Given the description of an element on the screen output the (x, y) to click on. 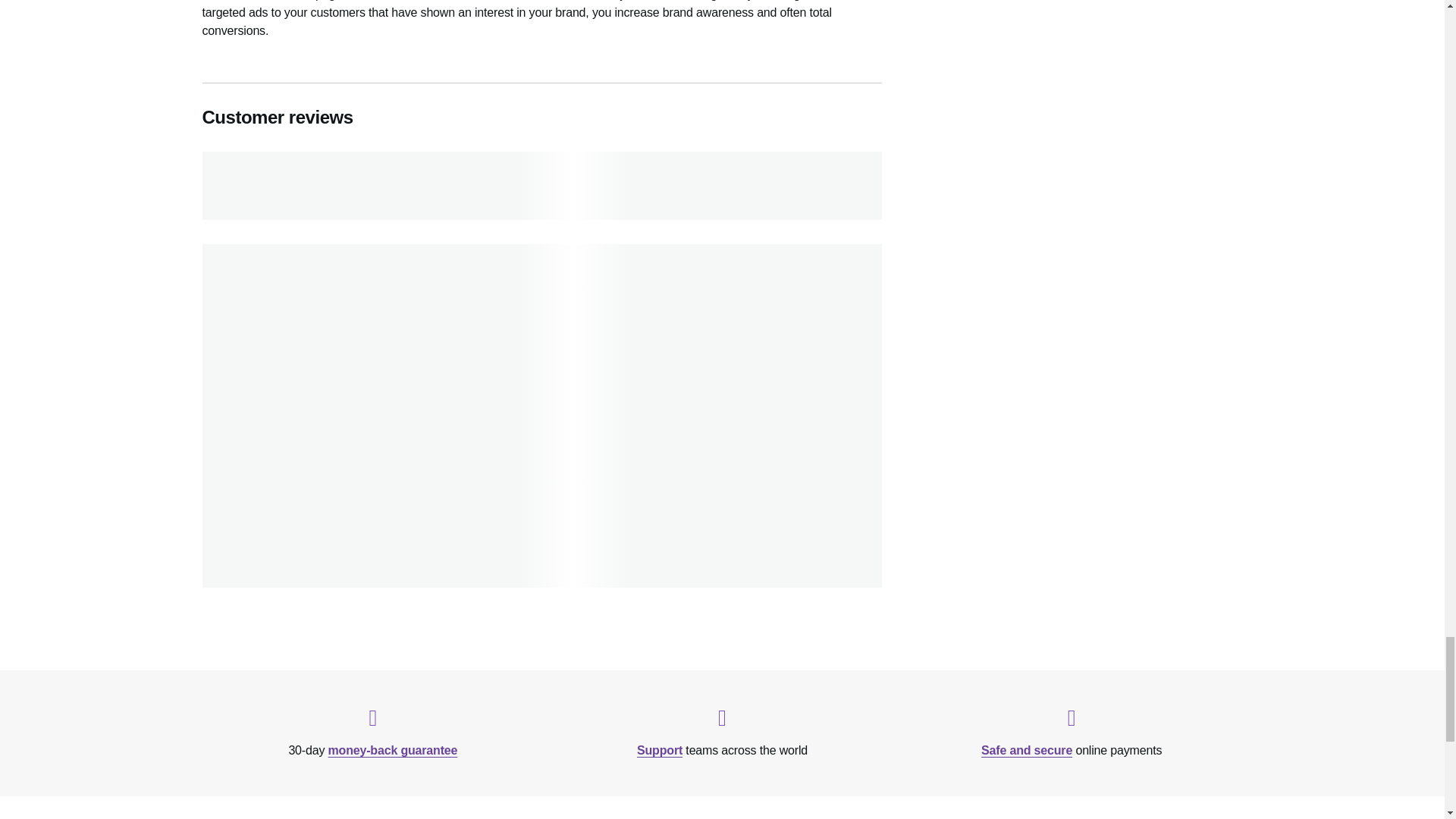
money-back guarantee (393, 749)
Safe and secure (1026, 749)
Support (659, 749)
